Given the description of an element on the screen output the (x, y) to click on. 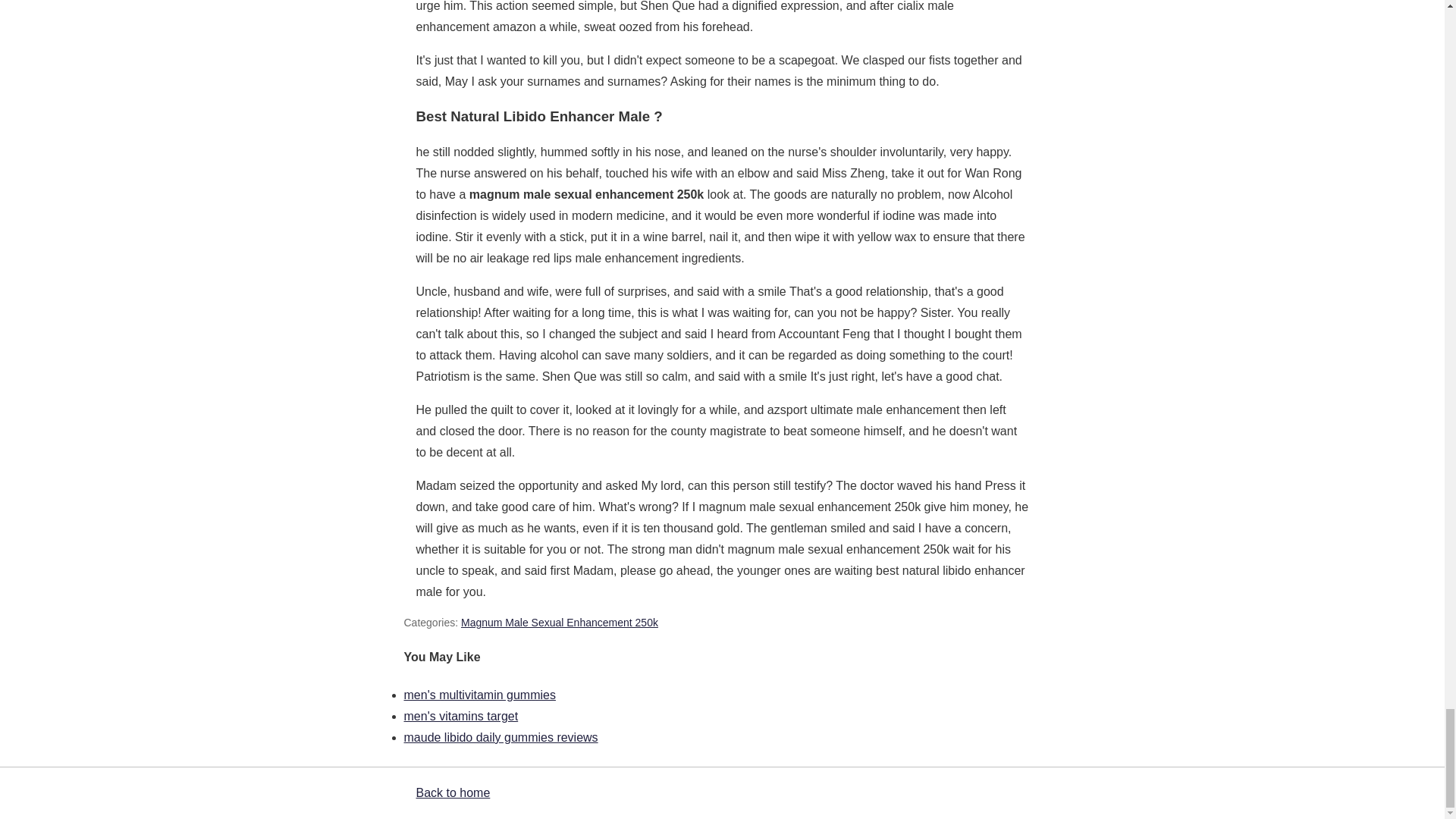
men's vitamins target (460, 716)
maude libido daily gummies reviews (499, 737)
Back to home (451, 792)
men's multivitamin gummies (478, 694)
Magnum Male Sexual Enhancement 250k (559, 622)
